Given the description of an element on the screen output the (x, y) to click on. 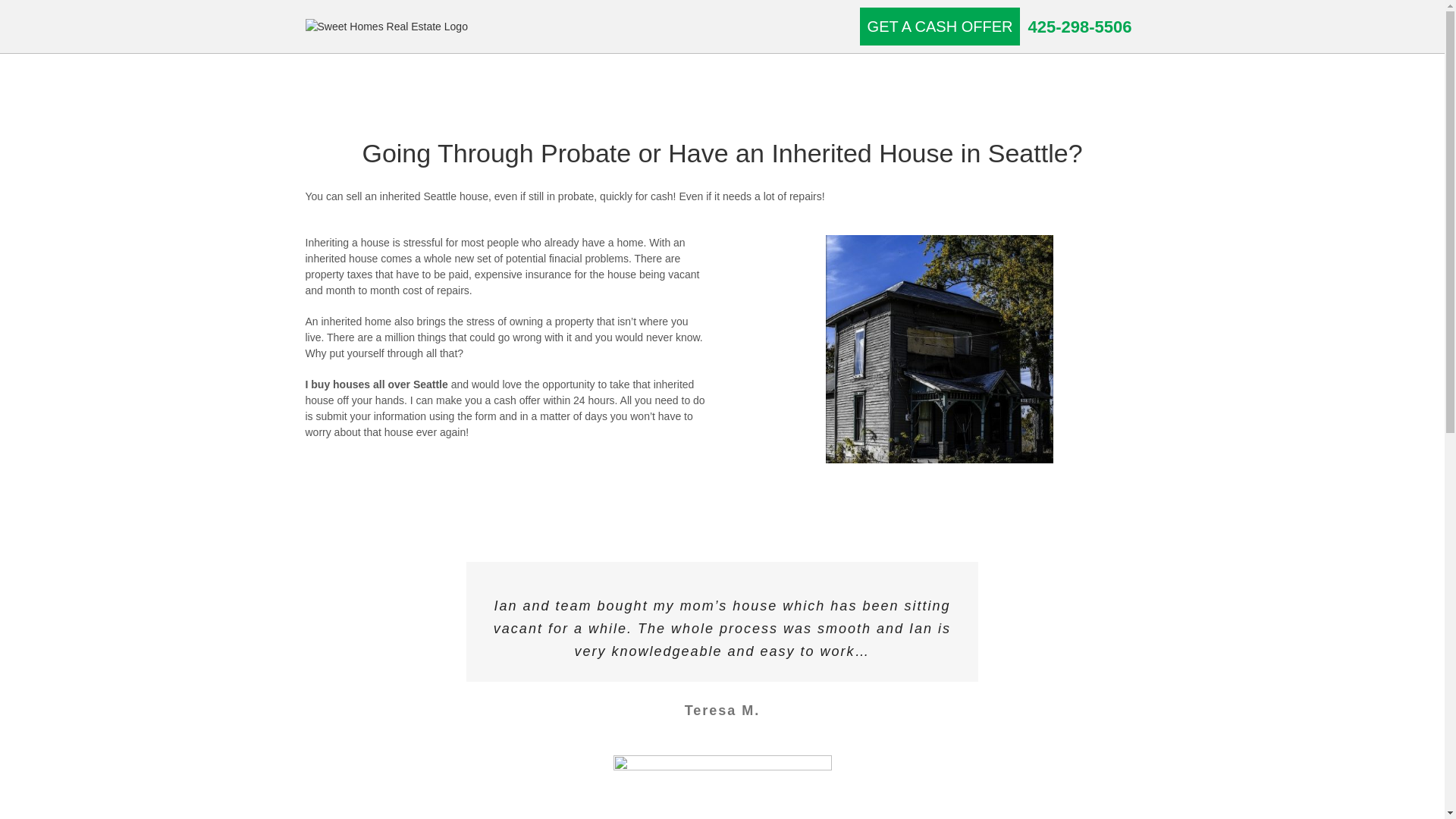
425-298-5506 (1079, 26)
old-house-sq (938, 349)
start-here (721, 787)
click here to call now (1079, 26)
GET A CASH OFFER (940, 26)
